Given the description of an element on the screen output the (x, y) to click on. 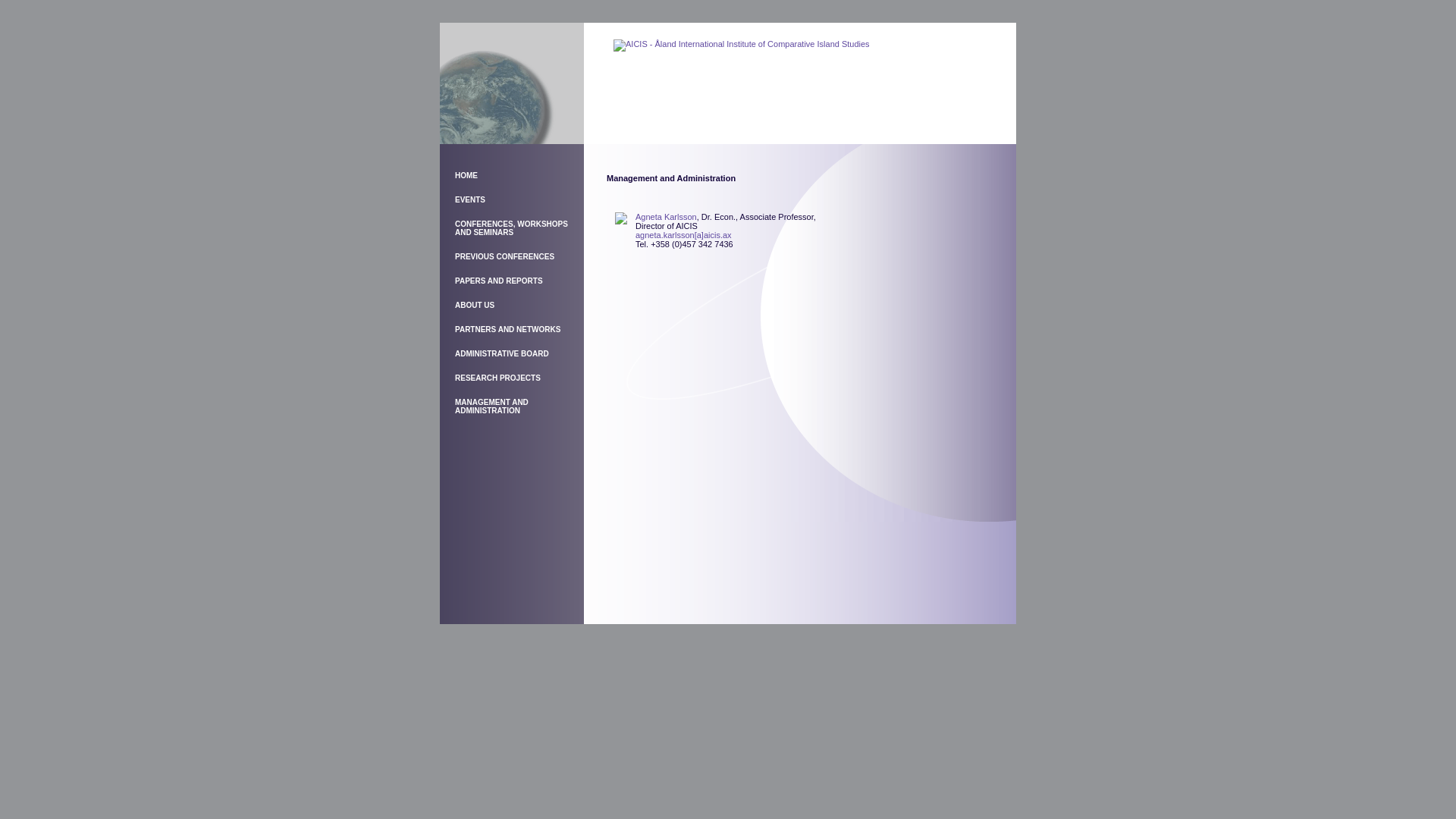
HOME Element type: text (466, 175)
MANAGEMENT AND ADMINISTRATION Element type: text (491, 406)
PARTNERS AND NETWORKS Element type: text (507, 329)
RESEARCH PROJECTS Element type: text (497, 377)
PAPERS AND REPORTS Element type: text (498, 280)
ABOUT US Element type: text (474, 305)
ADMINISTRATIVE BOARD Element type: text (502, 353)
EVENTS Element type: text (470, 199)
PREVIOUS CONFERENCES Element type: text (504, 256)
CONFERENCES, WORKSHOPS AND SEMINARS Element type: text (511, 227)
agneta.karlsson[a]aicis.ax Element type: text (683, 234)
Agneta Karlsson Element type: text (665, 216)
